Given the description of an element on the screen output the (x, y) to click on. 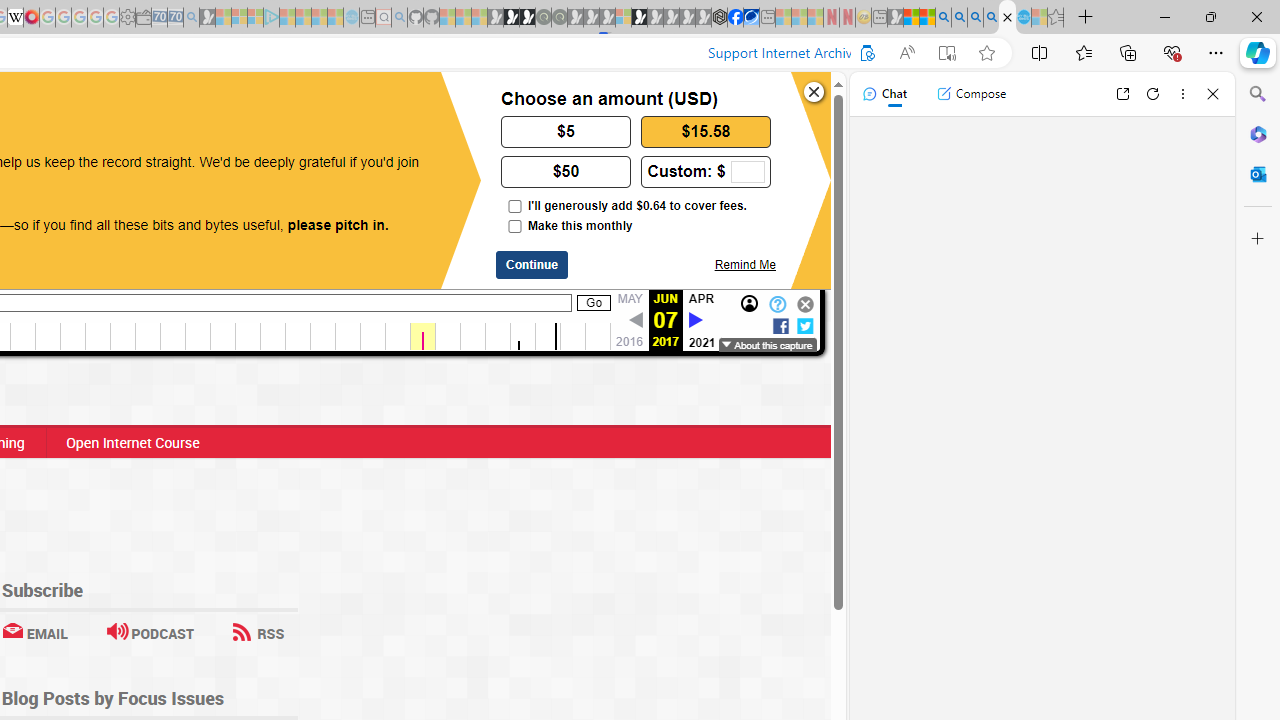
Nordace - Cooler Bags (719, 17)
Close banner (813, 92)
Settings - Sleeping (127, 17)
Remind Me (744, 264)
Previous capture (635, 319)
Nordace | Facebook (735, 17)
Play Zoo Boom in your browser | Games from Microsoft Start (511, 17)
PODCAST (150, 632)
Services - Maintenance | Sky Blue Bikes - Sky Blue Bikes (1023, 17)
